Given the description of an element on the screen output the (x, y) to click on. 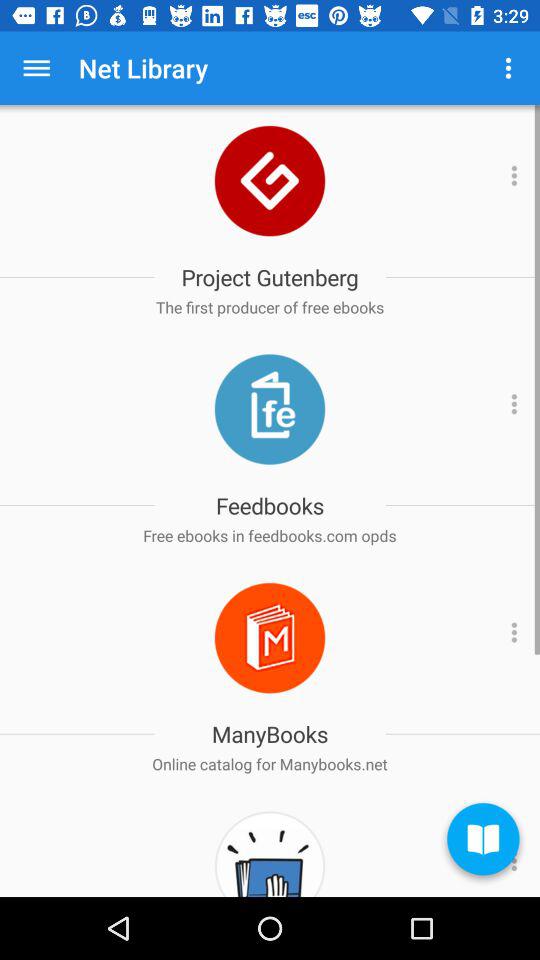
tap the app next to the net library icon (36, 68)
